Given the description of an element on the screen output the (x, y) to click on. 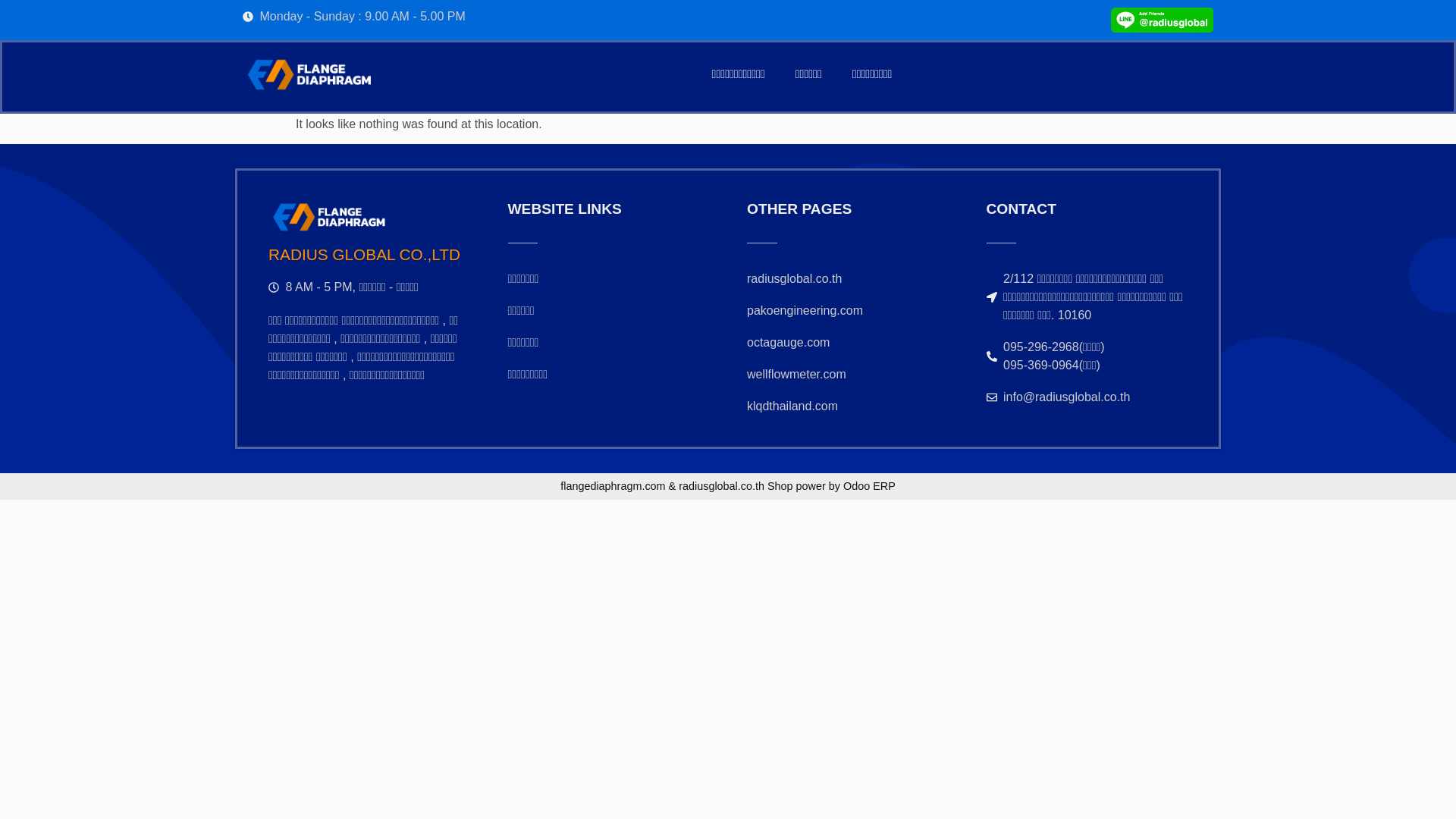
octagauge.com (847, 342)
klqdthailand.com (847, 406)
wellflowmeter.com (847, 374)
pakoengineering.com (847, 311)
radiusglobal.co.th (847, 279)
